Given the description of an element on the screen output the (x, y) to click on. 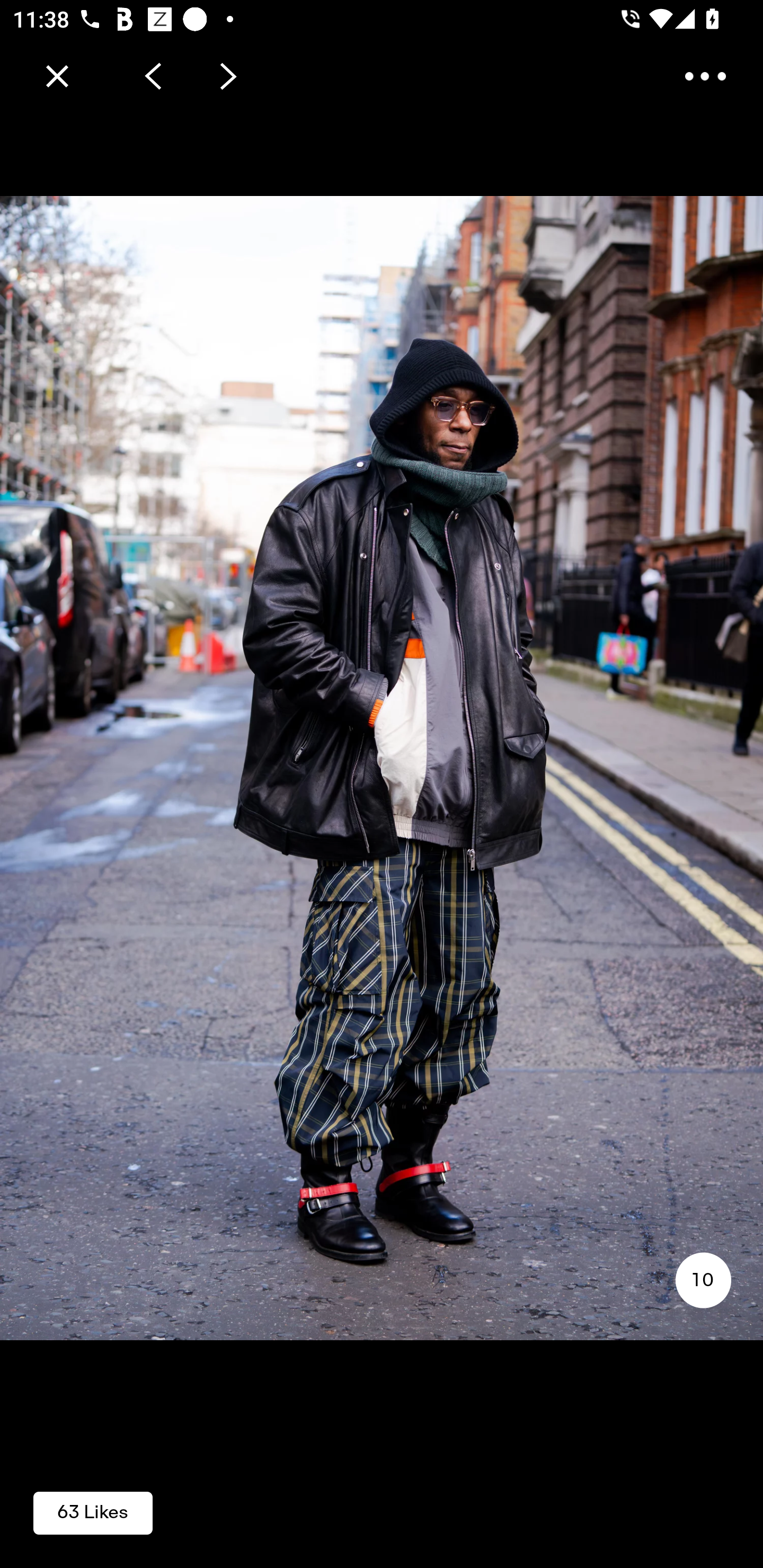
10 (702, 1279)
63 Likes (93, 1512)
